Given the description of an element on the screen output the (x, y) to click on. 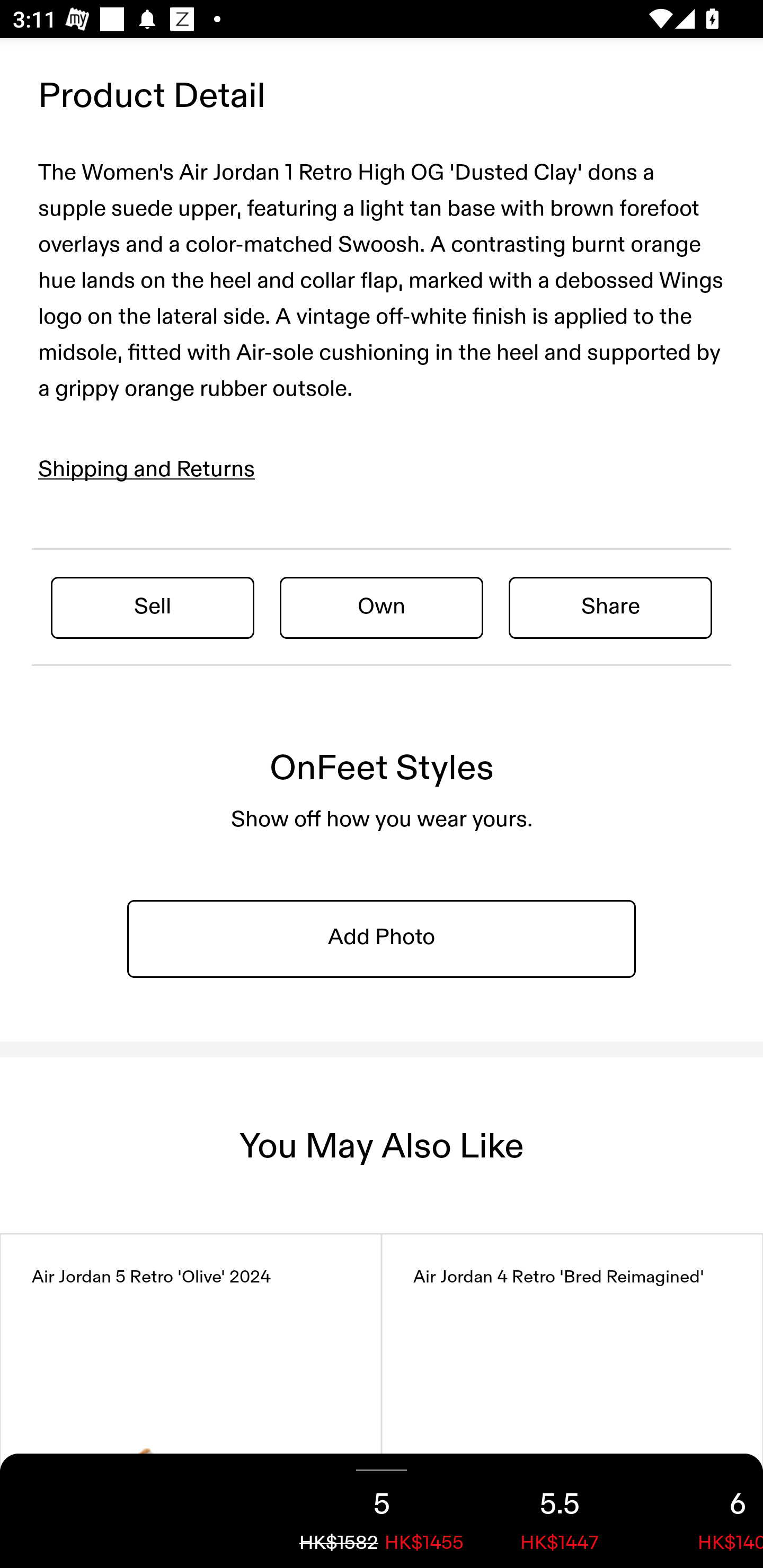
Shipping and Returns (146, 469)
Sell (152, 606)
Own (381, 606)
Share (609, 606)
Add Photo (381, 938)
Air Jordan 5 Retro 'Olive' 2024 (190, 1401)
Air Jordan 4 Retro 'Bred Reimagined' (572, 1401)
5 HK$1582 HK$1455 (381, 1510)
5.5 HK$1447 (559, 1510)
6 HK$1400 (705, 1510)
